Given the description of an element on the screen output the (x, y) to click on. 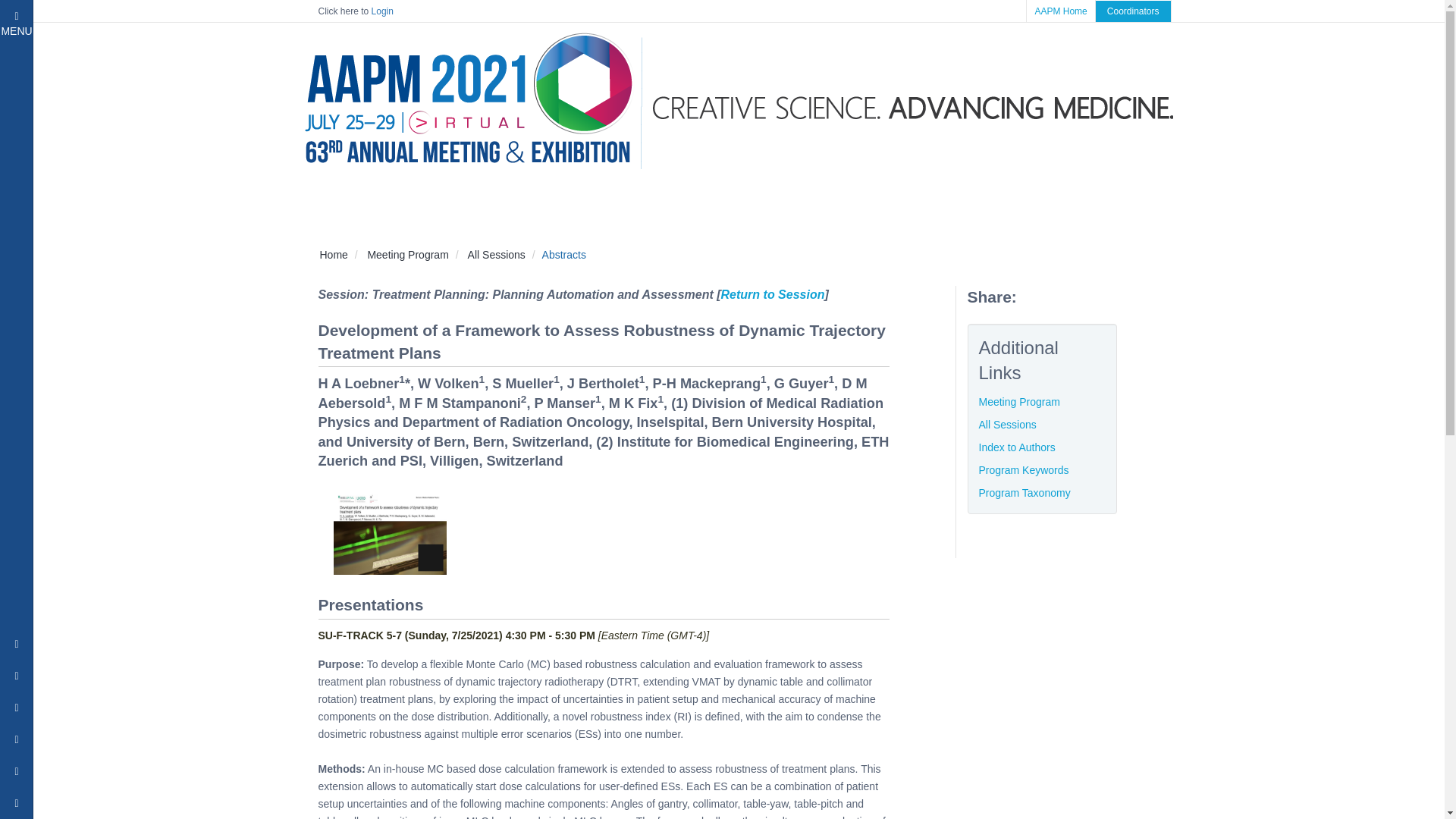
Contact Us (183, 263)
AAPM Home (148, 800)
Home (333, 254)
Login (382, 10)
Close menu (183, 142)
Registration (316, 48)
Coordinators (183, 173)
Return to Session (1133, 11)
Coordinators (772, 294)
Vendor Engagement (217, 800)
Experience (183, 233)
Home (183, 112)
Meeting Program (183, 81)
CE Information (407, 254)
